Given the description of an element on the screen output the (x, y) to click on. 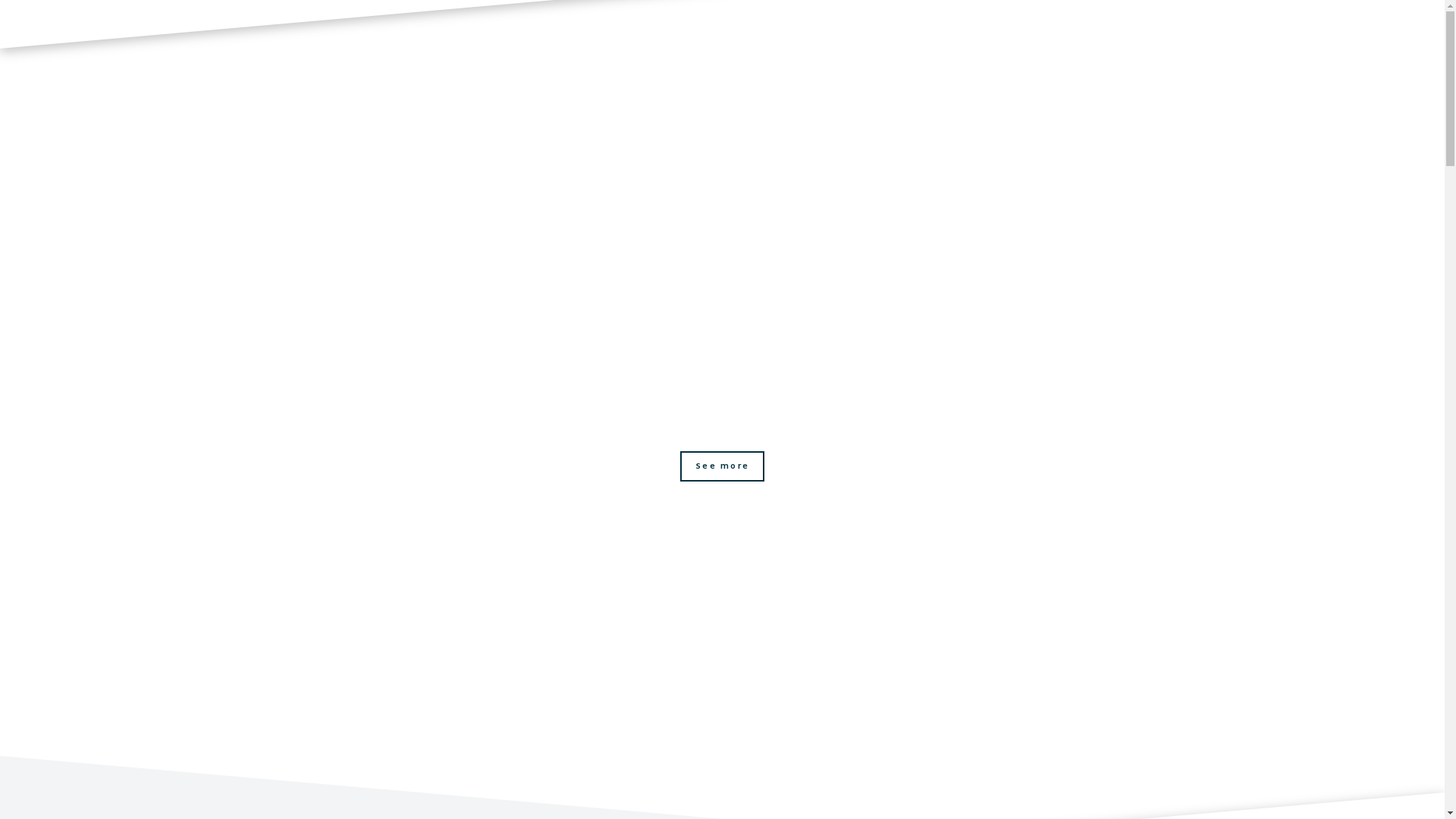
See more Element type: text (722, 466)
